Given the description of an element on the screen output the (x, y) to click on. 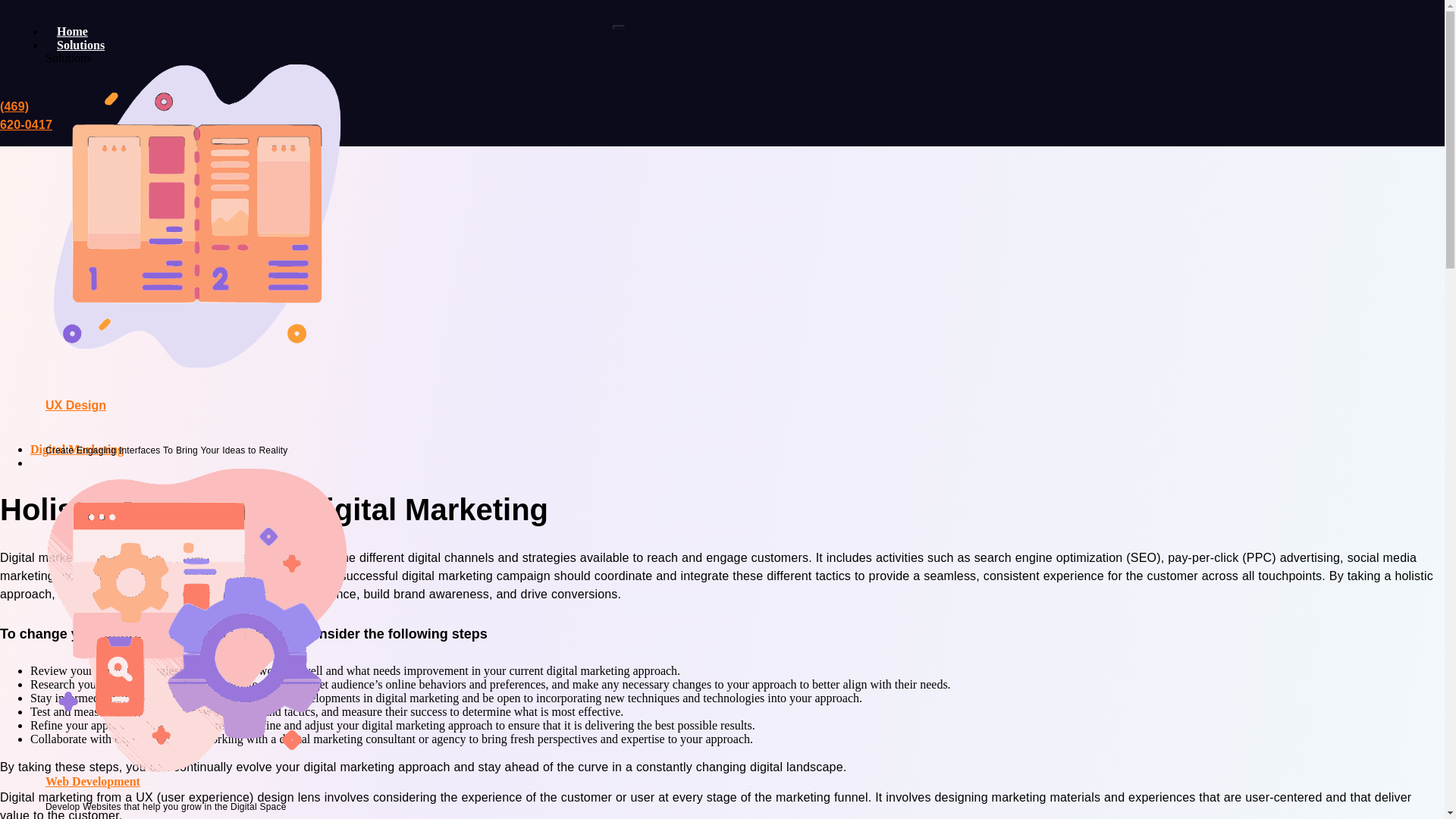
Digital Marketing (76, 449)
Home (72, 31)
Solutions (82, 44)
Web Development (92, 780)
UX Design (75, 404)
